Given the description of an element on the screen output the (x, y) to click on. 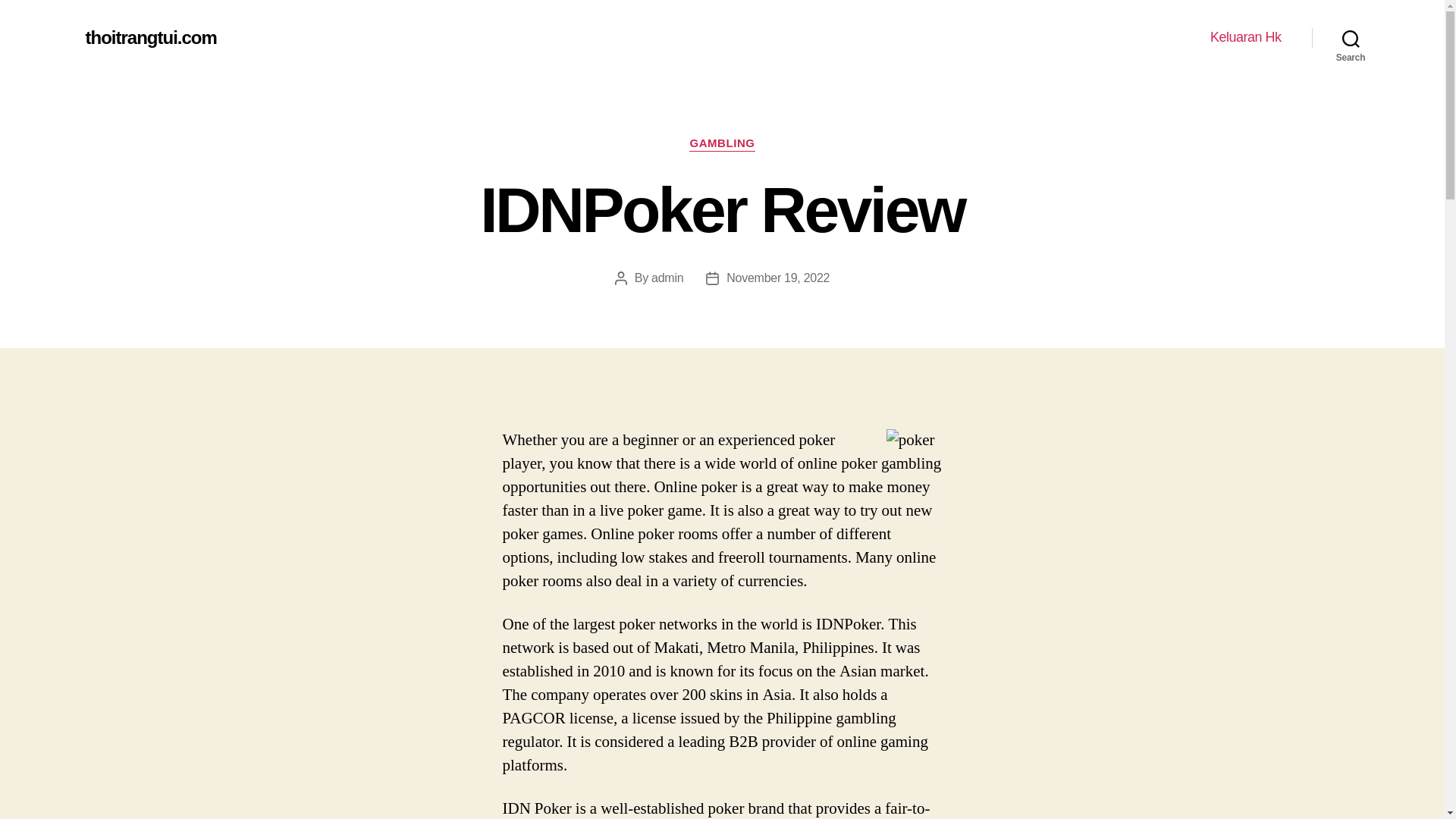
GAMBLING (721, 143)
admin (666, 277)
Search (1350, 37)
Keluaran Hk (1245, 37)
November 19, 2022 (777, 277)
thoitrangtui.com (149, 37)
